Given the description of an element on the screen output the (x, y) to click on. 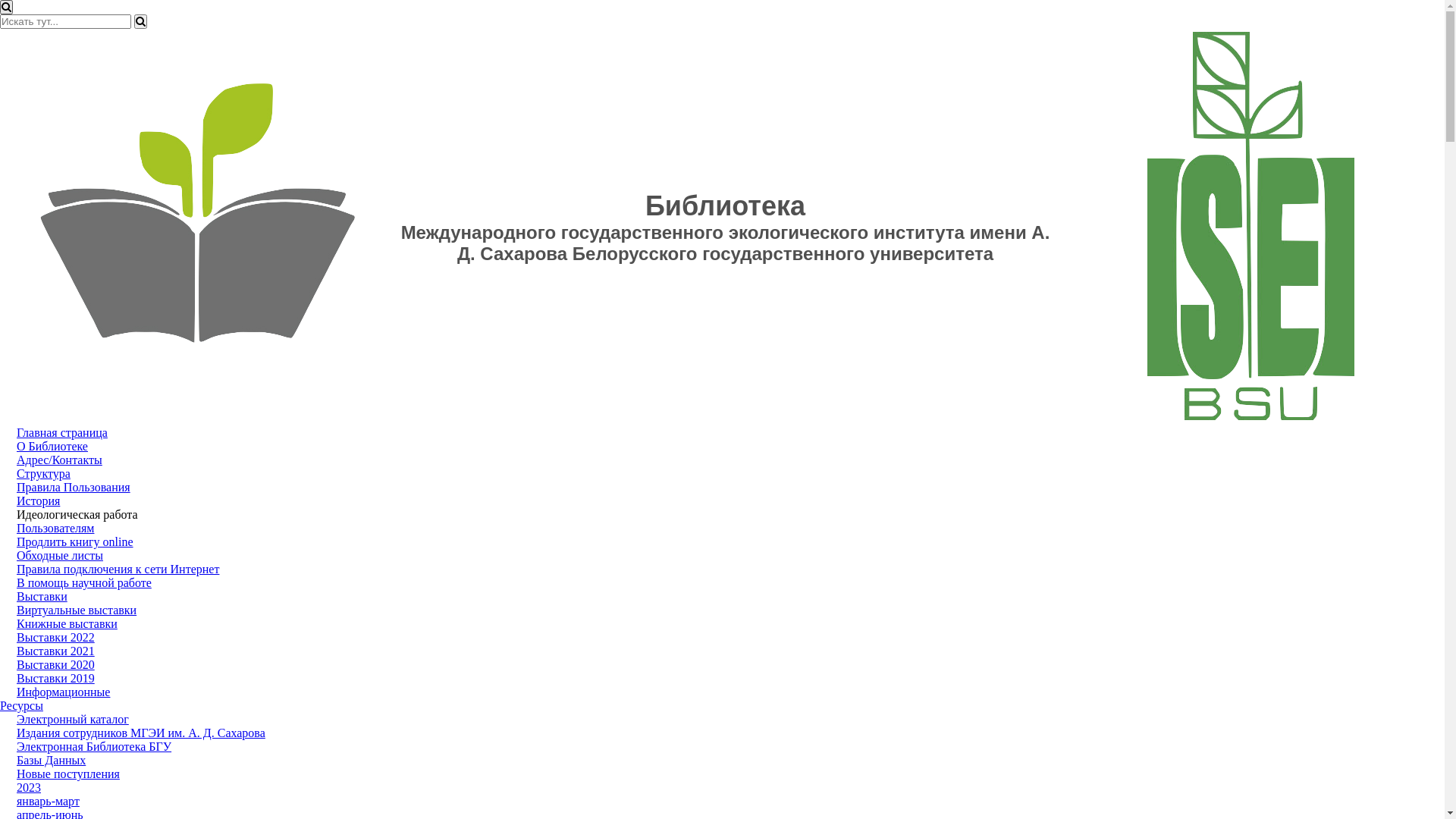
Search Element type: hover (140, 21)
2023 Element type: text (28, 787)
